Given the description of an element on the screen output the (x, y) to click on. 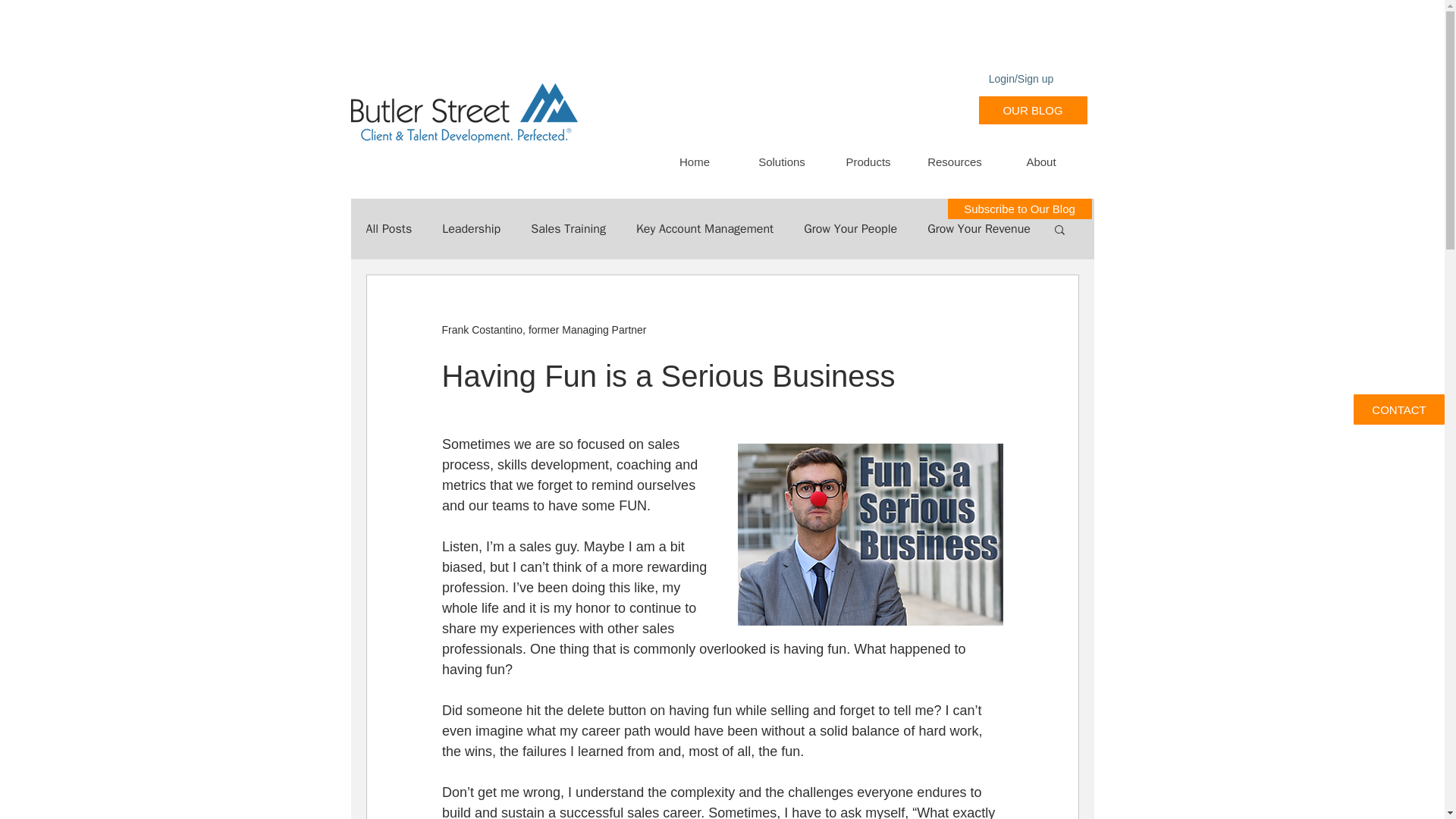
Sales Training (568, 229)
All Posts (388, 229)
Butlerstreetlogo.png (463, 113)
Grow Your People (849, 229)
Home (694, 161)
Key Account Management (704, 229)
OUR BLOG (1032, 110)
Grow Your Revenue (978, 229)
Log In (1035, 109)
Frank Costantino, former Managing Partner (543, 329)
Leadership (471, 229)
